Given the description of an element on the screen output the (x, y) to click on. 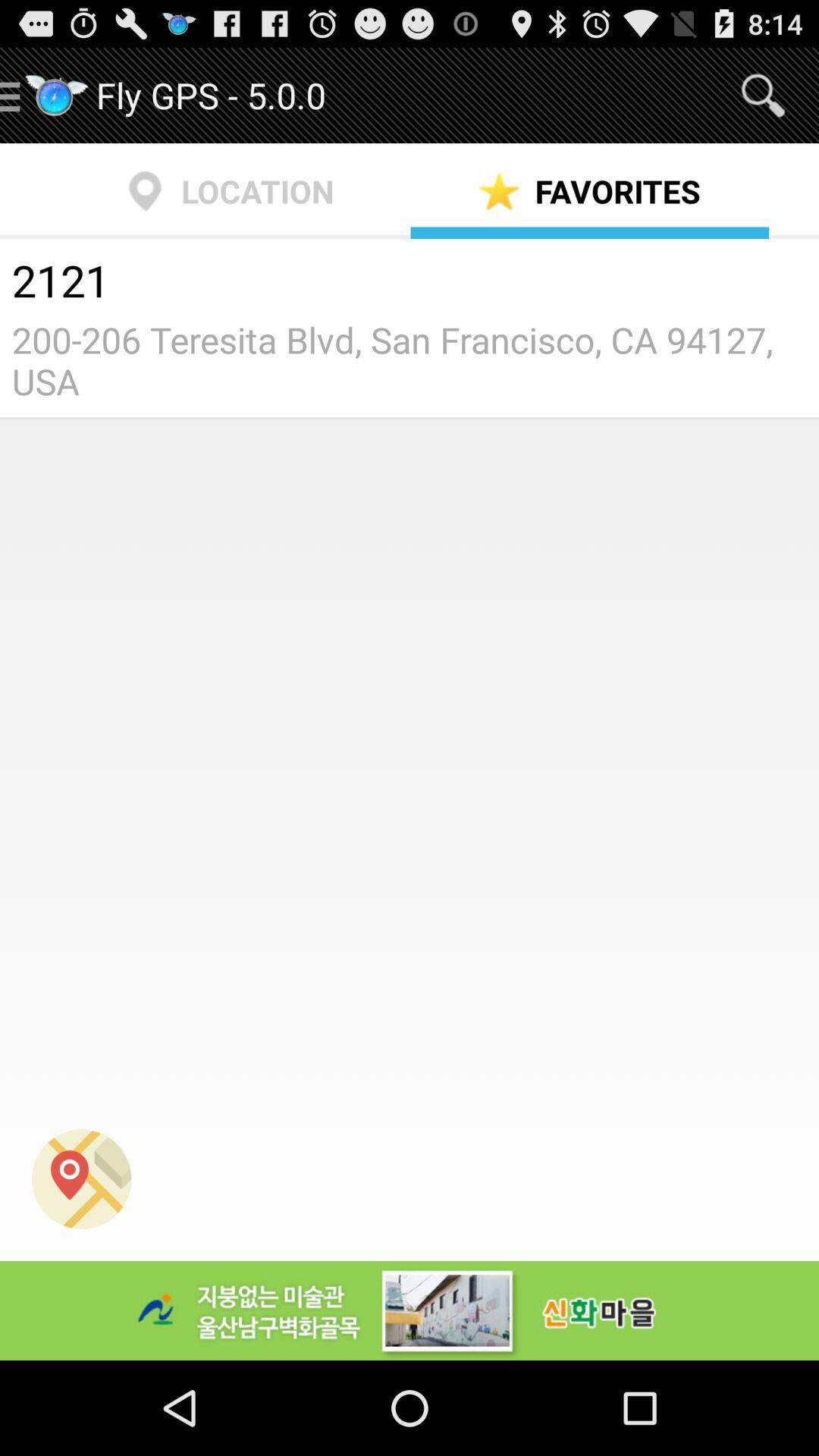
turn off the 200 206 teresita item (409, 360)
